Given the description of an element on the screen output the (x, y) to click on. 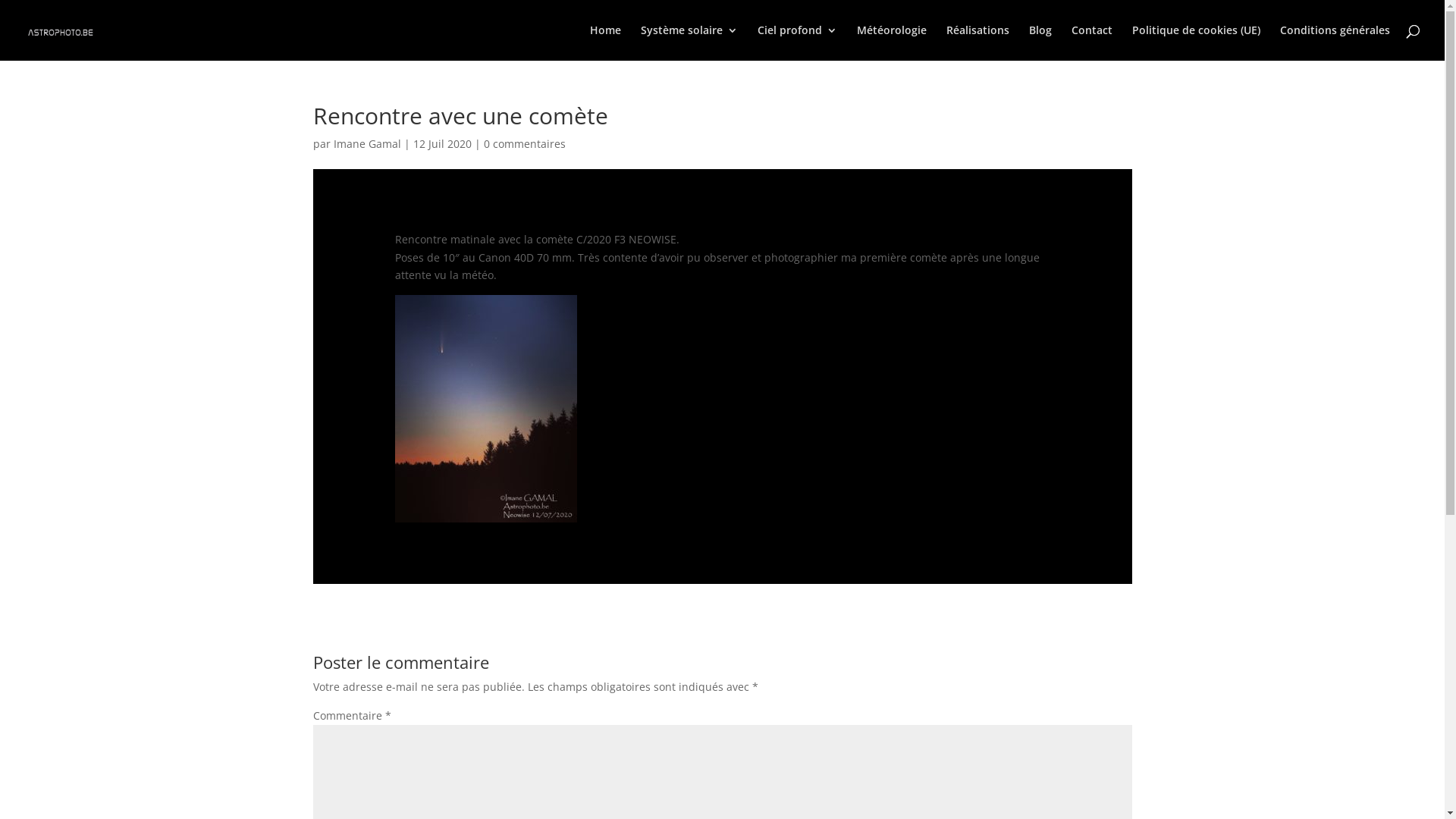
Home Element type: text (605, 42)
Ciel profond Element type: text (797, 42)
Contact Element type: text (1091, 42)
Politique de cookies (UE) Element type: text (1196, 42)
Imane Gamal Element type: text (367, 143)
Blog Element type: text (1040, 42)
0 commentaires Element type: text (524, 143)
